Given the description of an element on the screen output the (x, y) to click on. 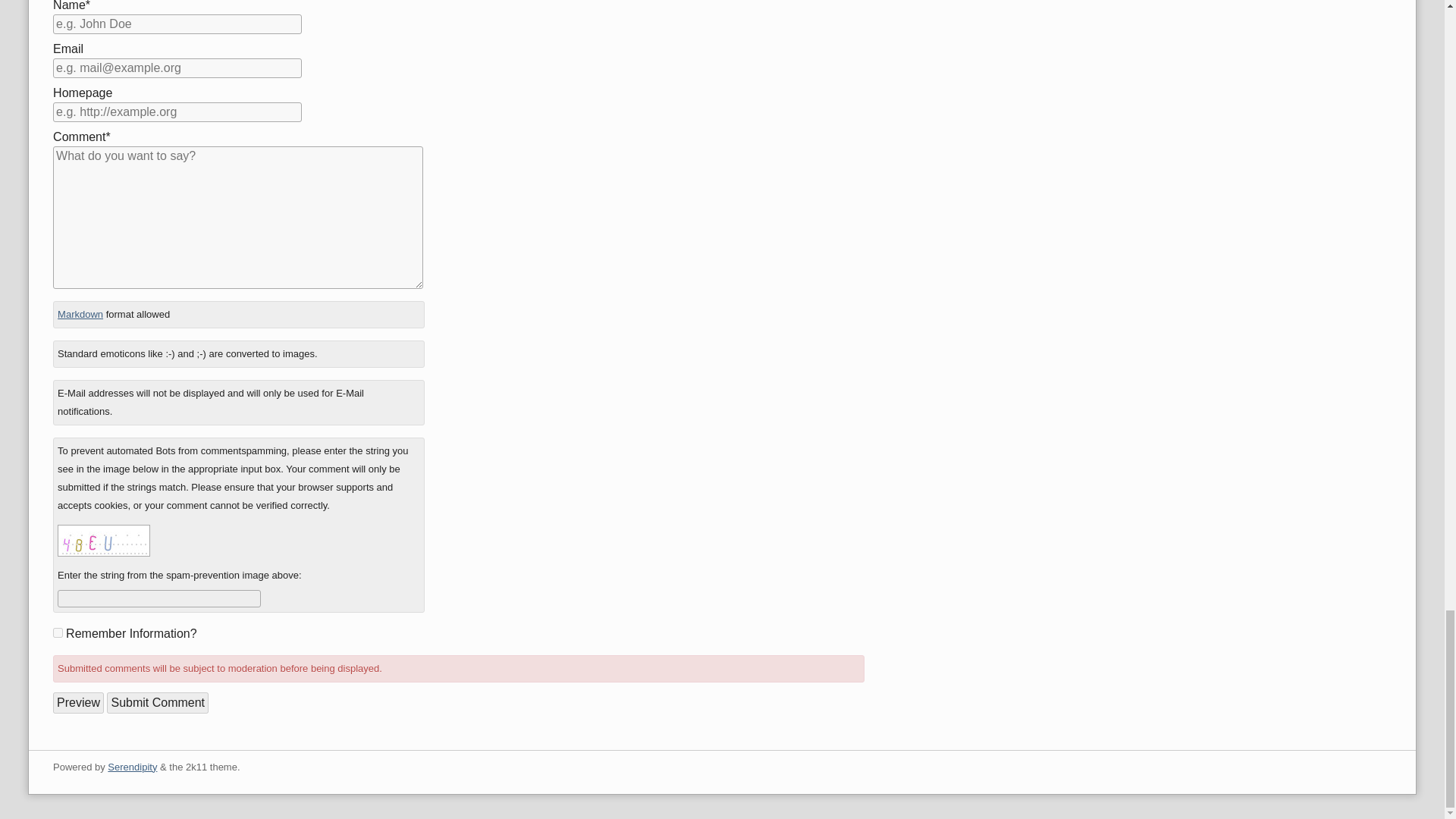
Markdown (80, 314)
Submit Comment (157, 702)
on (57, 633)
Preview (77, 702)
Preview (77, 702)
Submit Comment (157, 702)
Enter the string you see here in the input box! (103, 540)
